Given the description of an element on the screen output the (x, y) to click on. 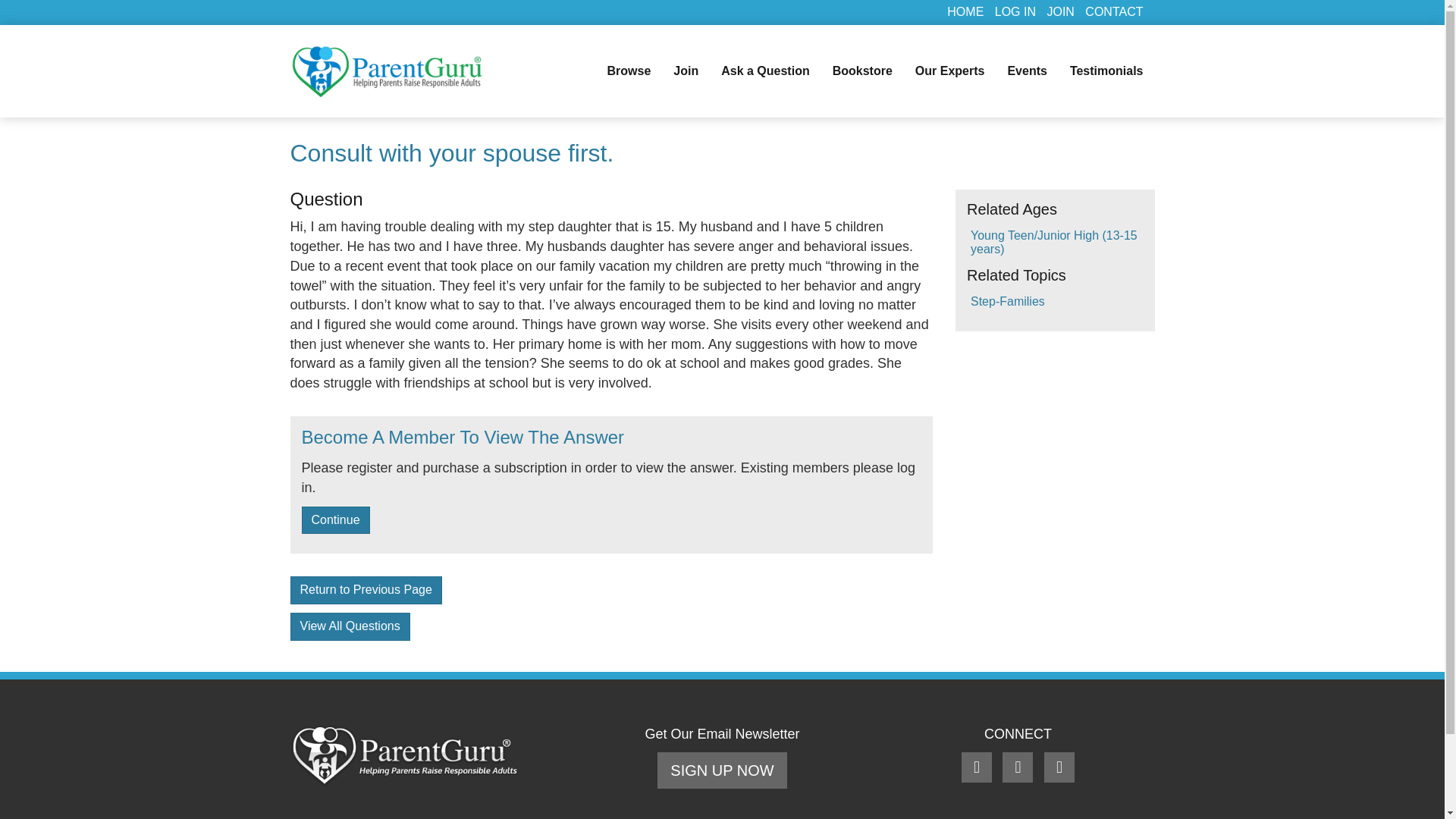
Ask a Question (765, 70)
Bookstore (862, 70)
SIGN UP NOW (722, 770)
Browse (628, 70)
LOG IN (1014, 11)
Continue (335, 520)
HOME (965, 11)
Testimonials (1106, 70)
Step-Families (1008, 300)
Instagram (1059, 768)
